Given the description of an element on the screen output the (x, y) to click on. 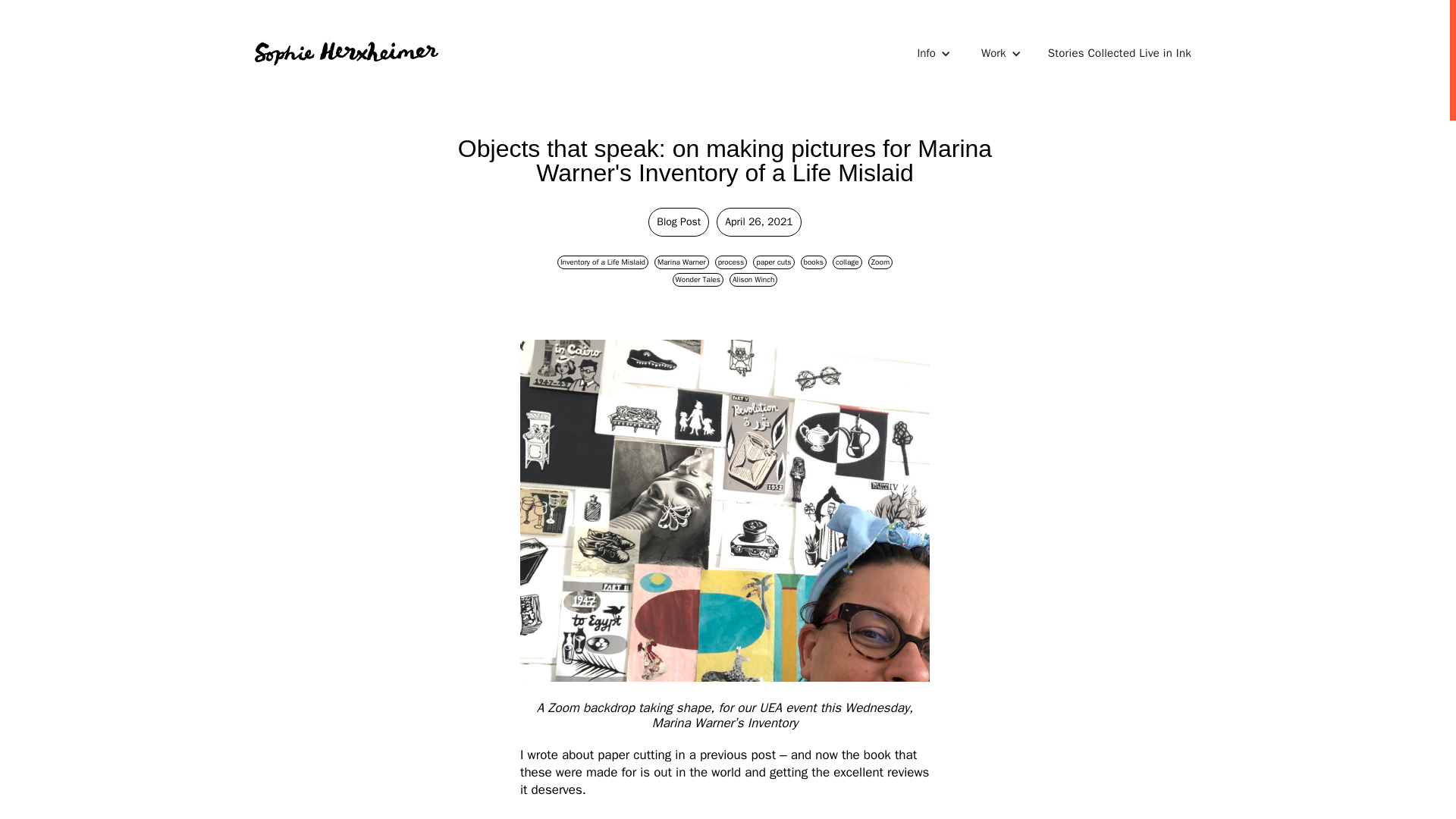
Zoom (879, 260)
Inventory of a Life Mislaid (602, 260)
Stories Collected Live in Ink (1119, 52)
collage (846, 260)
Wonder Tales (697, 277)
Alison Winch (753, 277)
Marina Warner (681, 260)
process (731, 260)
paper cuts (772, 260)
books (813, 260)
